Given the description of an element on the screen output the (x, y) to click on. 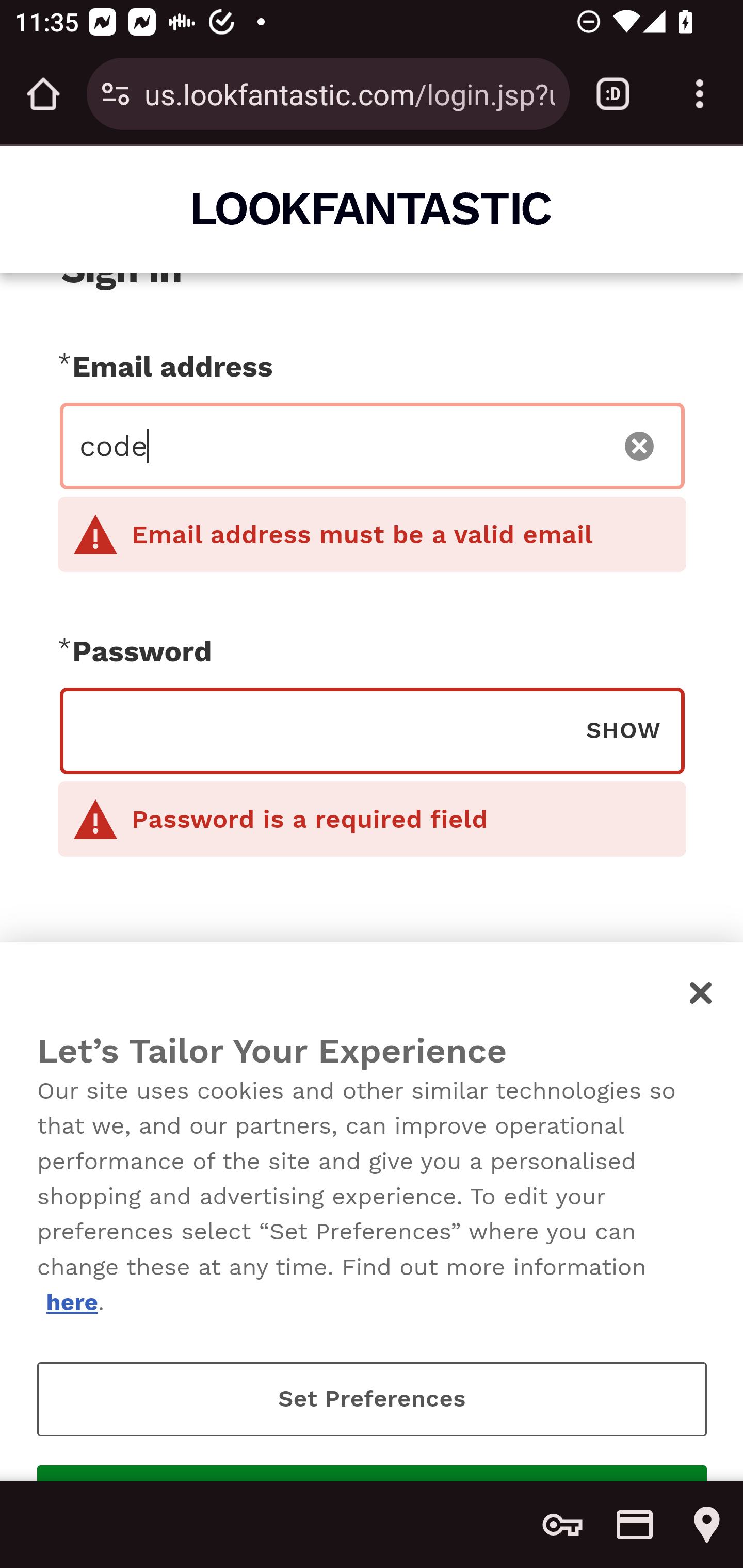
Open the home page (43, 93)
Connection is secure (115, 93)
Switch or close tabs (612, 93)
Customize and control Google Chrome (699, 93)
Lookfantastic USA Home page (372, 208)
code (339, 445)
Clear field (639, 445)
Show Password (623, 729)
Close (701, 992)
Sign in to your account (371, 1070)
here (71, 1302)
Set Preferences (372, 1399)
Show saved passwords and password options (562, 1524)
Show saved payment methods (634, 1524)
Show saved addresses (706, 1524)
